Given the description of an element on the screen output the (x, y) to click on. 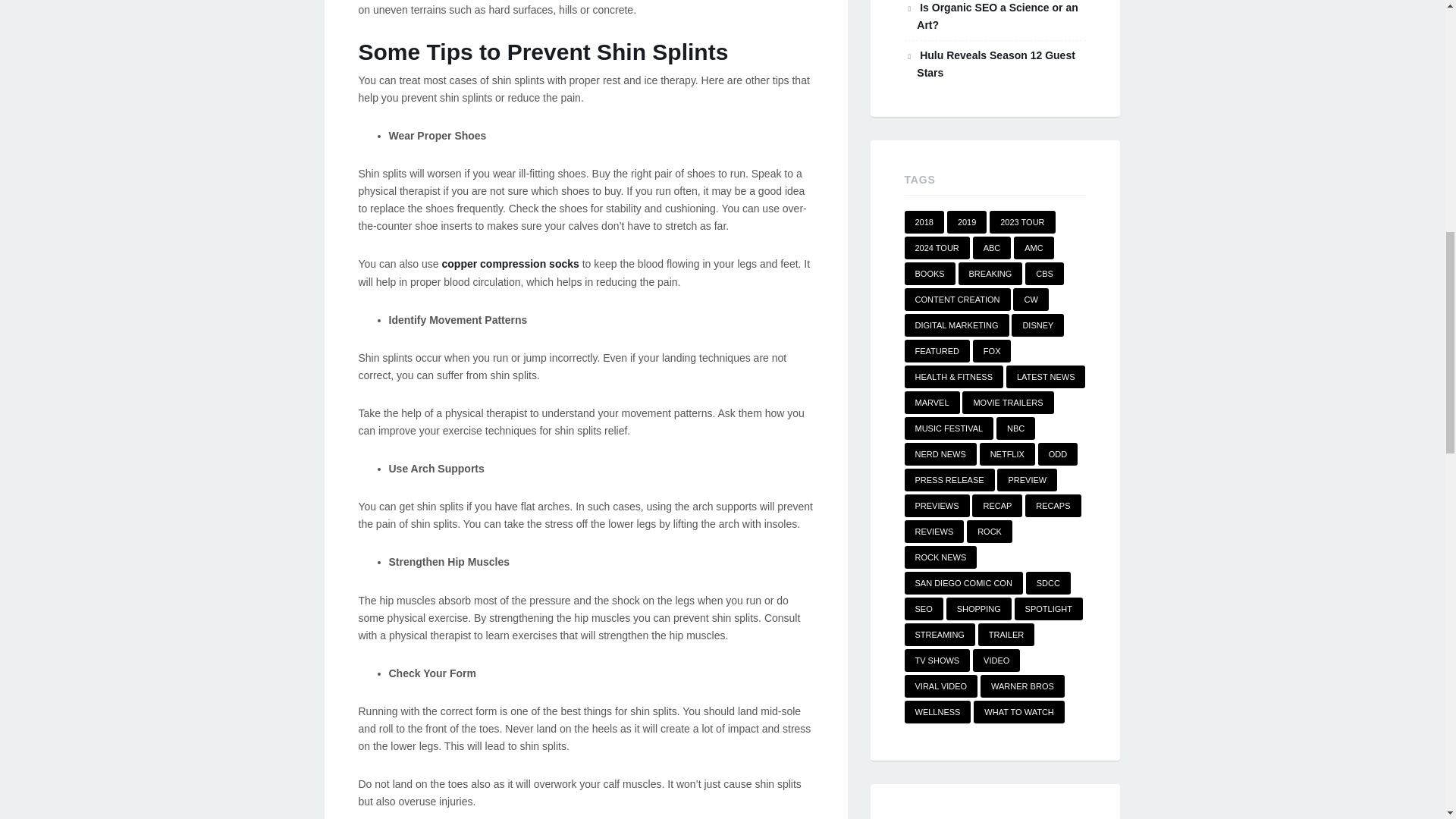
2018 (923, 221)
ABC (991, 247)
BREAKING (990, 273)
BOOKS (929, 273)
CONTENT CREATION (957, 299)
AMC (1032, 247)
2023 TOUR (1022, 221)
2024 TOUR (936, 247)
copper compression socks (510, 263)
Hulu Reveals Season 12 Guest Stars (996, 63)
Is Organic SEO a Science or an Art? (997, 16)
2019 (967, 221)
CBS (1044, 273)
